Given the description of an element on the screen output the (x, y) to click on. 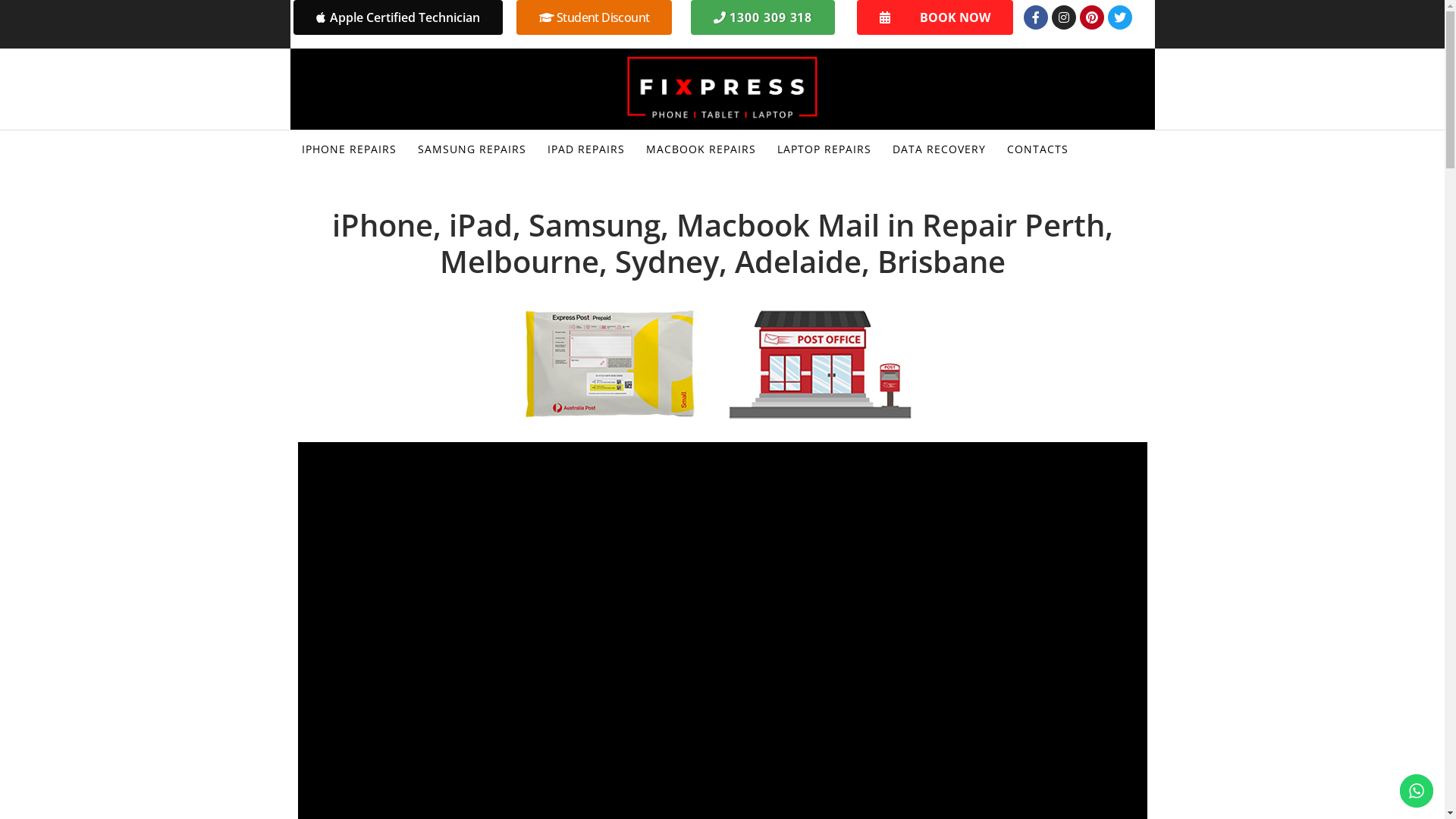
Apple Certified Technician Element type: text (397, 17)
LAPTOP REPAIRS Element type: text (824, 149)
CONTACTS Element type: text (1036, 149)
MACBOOK REPAIRS Element type: text (700, 149)
DATA RECOVERY Element type: text (938, 149)
1300 309 318 Element type: text (762, 17)
IPHONE REPAIRS Element type: text (348, 149)
IPAD REPAIRS Element type: text (584, 149)
SAMSUNG REPAIRS Element type: text (472, 149)
Student Discount Element type: text (593, 17)
BOOK NOW Element type: text (934, 17)
